Given the description of an element on the screen output the (x, y) to click on. 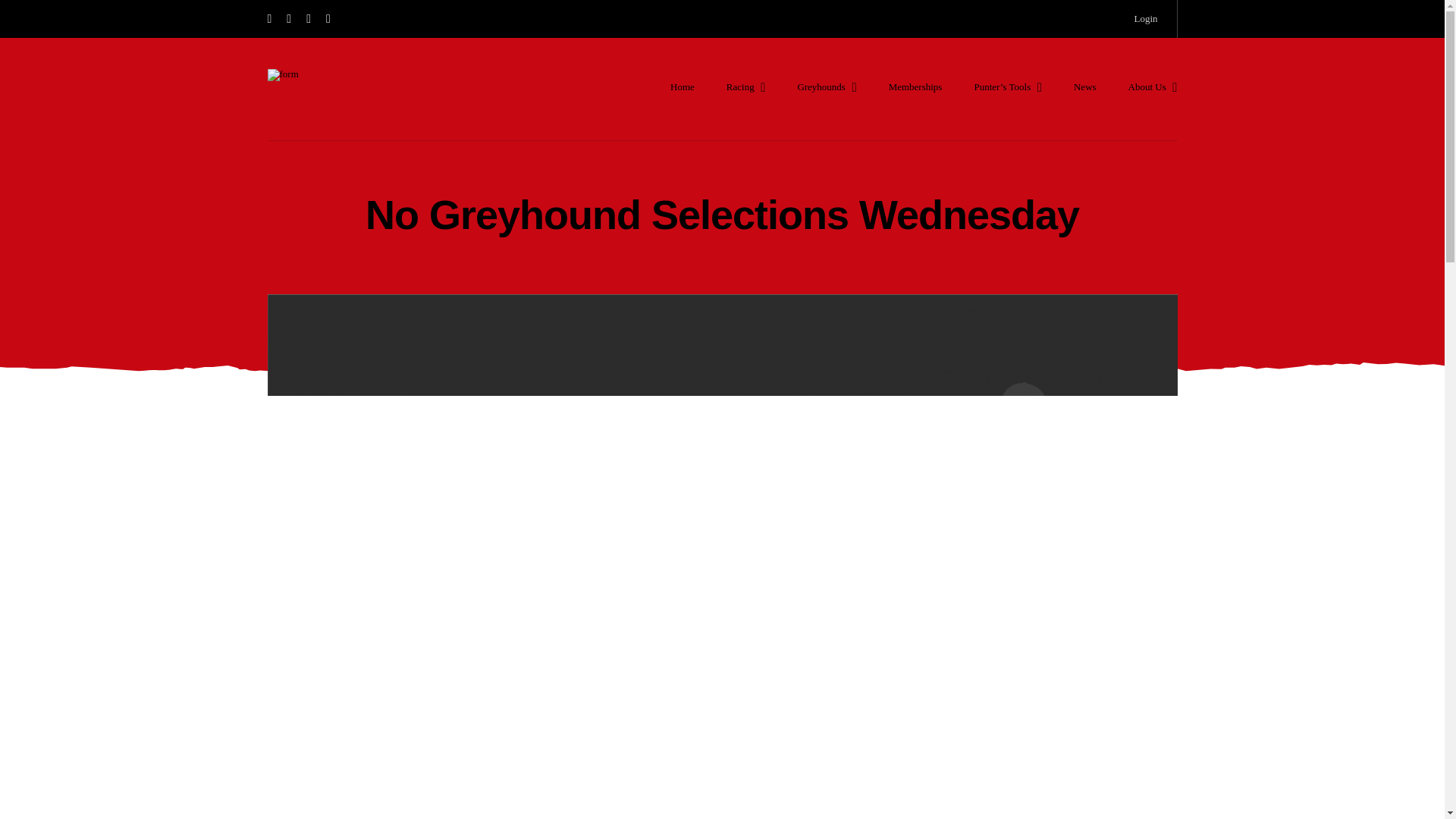
Memberships (915, 86)
Login (1145, 18)
Racing (745, 86)
Greyhounds (826, 86)
About Us (1152, 86)
